Given the description of an element on the screen output the (x, y) to click on. 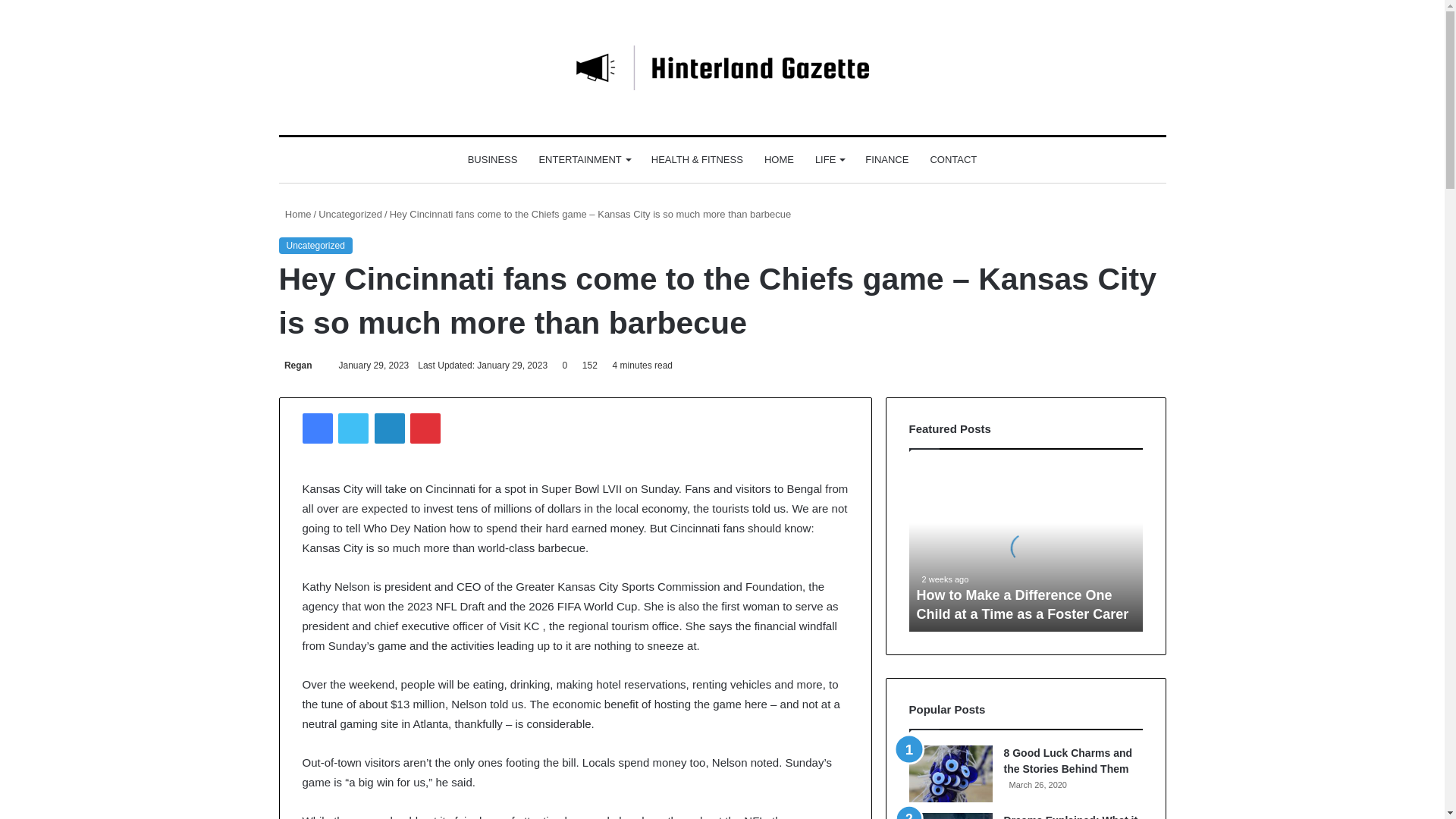
Regan (296, 365)
Pinterest (425, 428)
BUSINESS (492, 159)
Twitter (352, 428)
Home (295, 214)
Facebook (316, 428)
Uncategorized (349, 214)
Facebook (316, 428)
Twitter (352, 428)
Uncategorized (315, 245)
Regan (296, 365)
Pinterest (425, 428)
CONTACT (952, 159)
LinkedIn (389, 428)
Hinterland Gazette (721, 67)
